Given the description of an element on the screen output the (x, y) to click on. 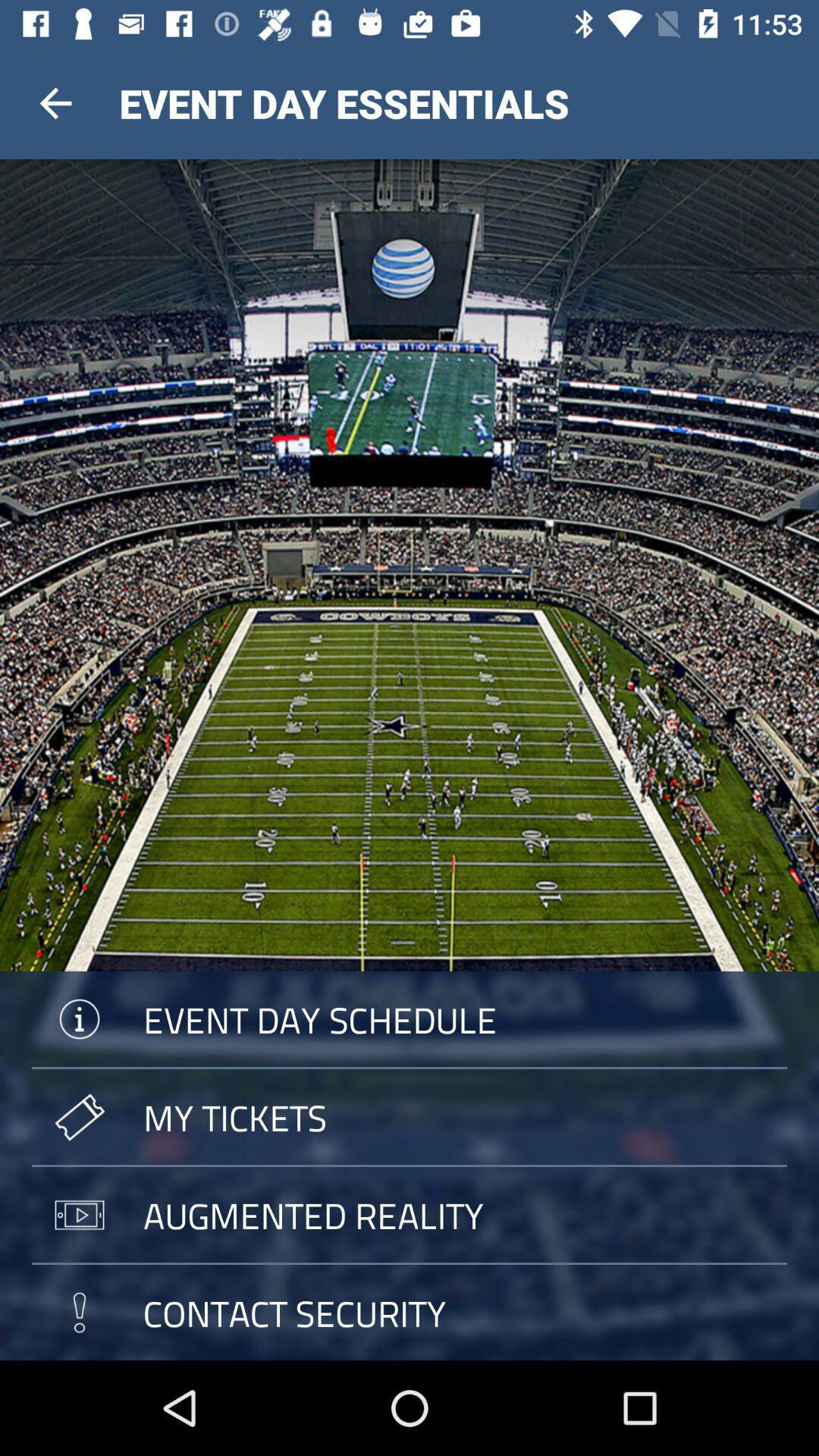
press the item next to the event day essentials (55, 103)
